Given the description of an element on the screen output the (x, y) to click on. 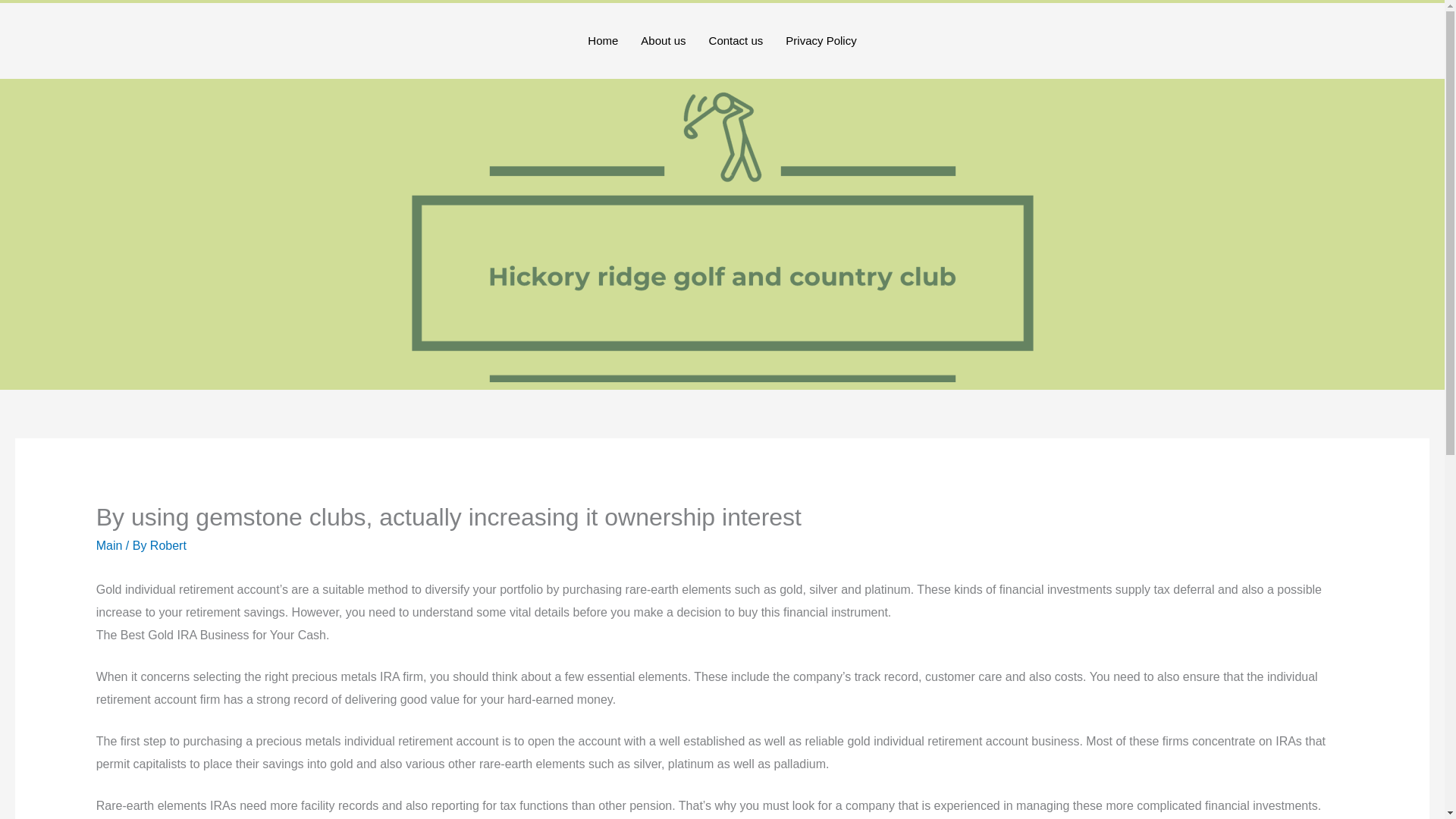
Contact us (735, 40)
Privacy Policy (820, 40)
Main (109, 545)
View all posts by Robert (167, 545)
About us (662, 40)
Robert (167, 545)
